Given the description of an element on the screen output the (x, y) to click on. 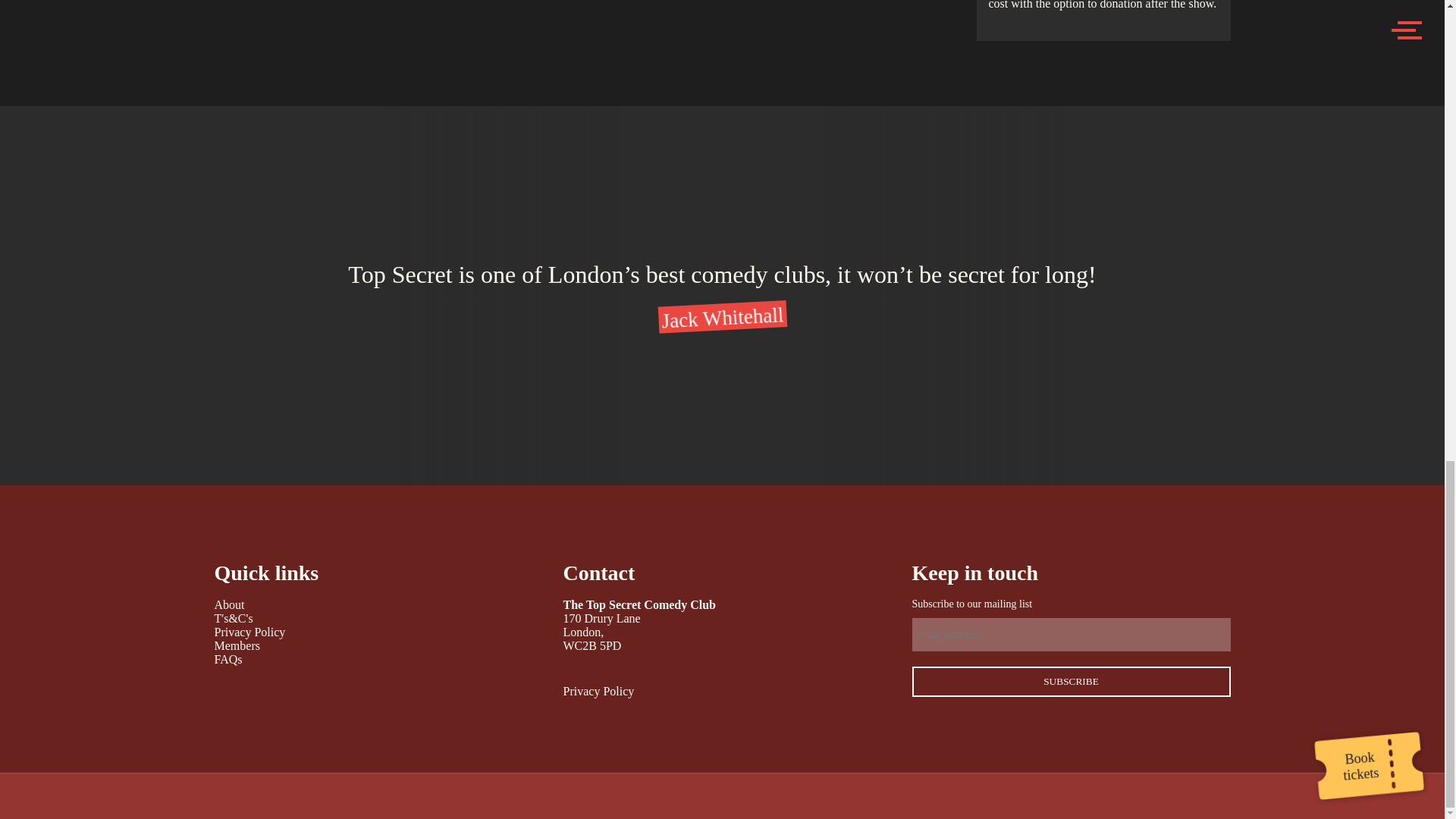
Privacy Policy (249, 631)
Privacy Policy (597, 690)
About (229, 604)
FAQs (227, 658)
Subscribe (1070, 681)
Members (236, 645)
Subscribe (1070, 681)
